Given the description of an element on the screen output the (x, y) to click on. 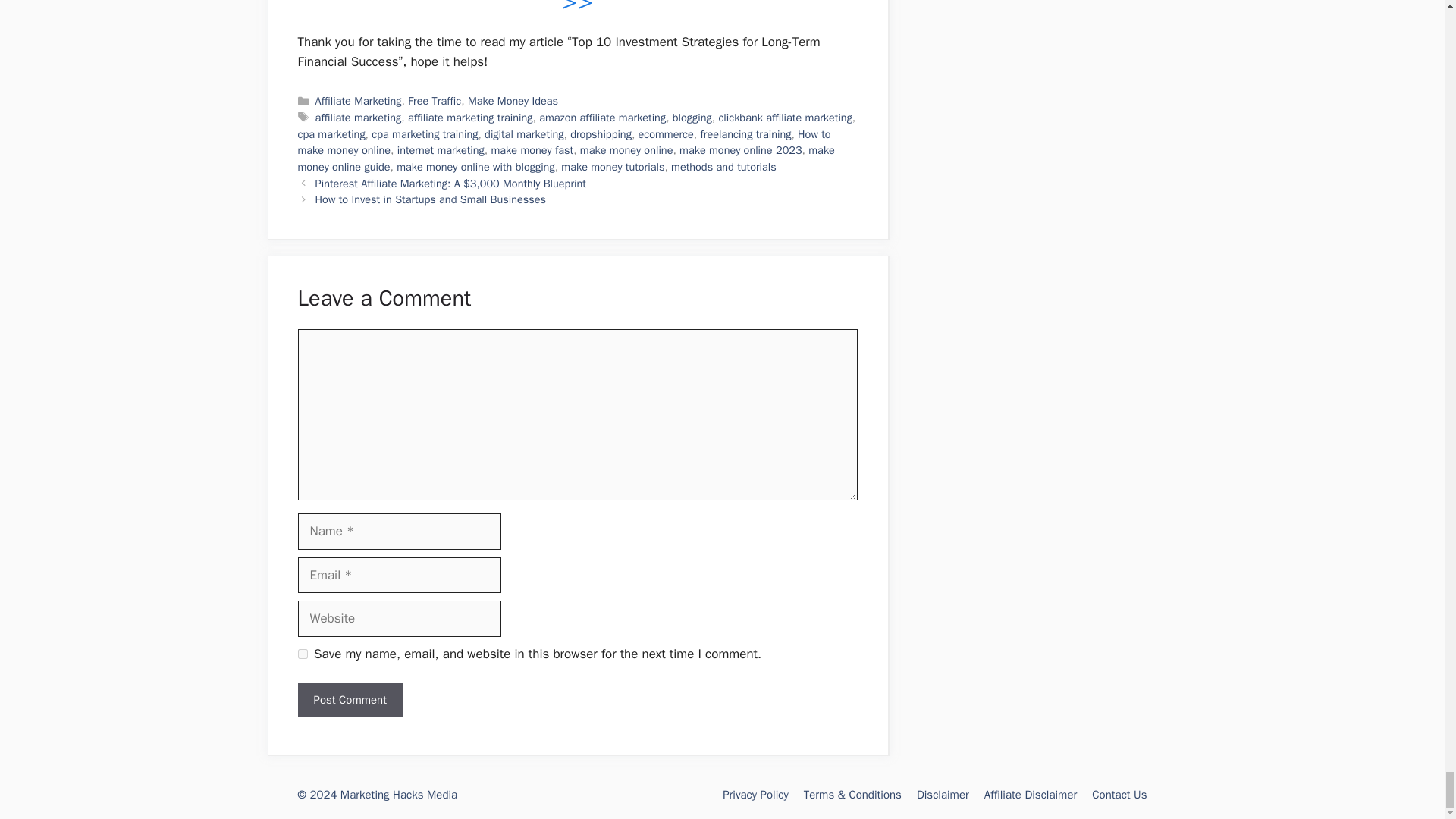
make money online (625, 150)
make money online with blogging (475, 166)
amazon affiliate marketing (601, 117)
affiliate marketing (358, 117)
make money tutorials (611, 166)
internet marketing (440, 150)
freelancing training (745, 133)
make money fast (531, 150)
Affiliate Marketing (358, 100)
cpa marketing (331, 133)
